Given the description of an element on the screen output the (x, y) to click on. 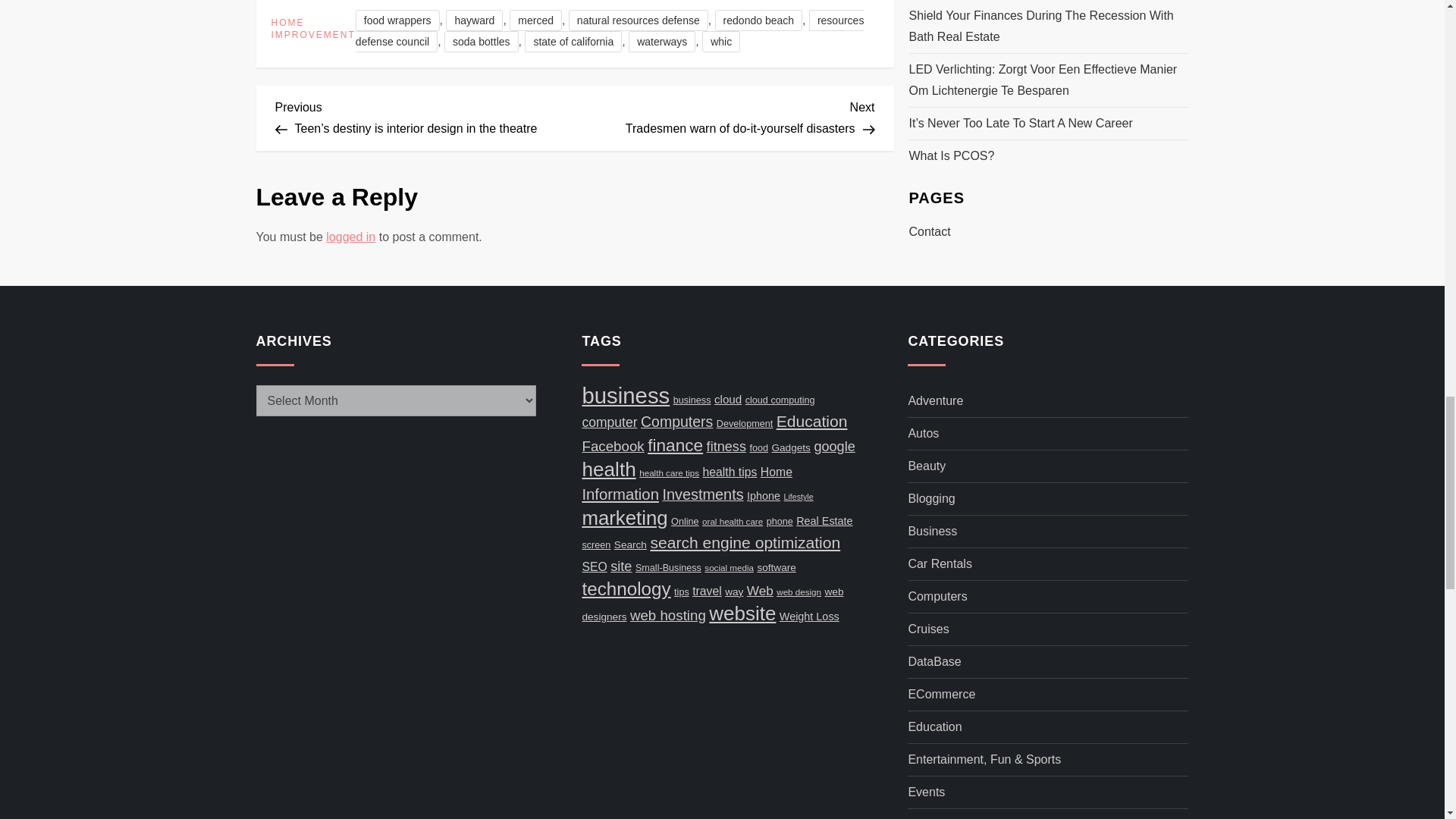
HOME IMPROVEMENT (312, 28)
soda bottles (481, 41)
state of california (725, 116)
food wrappers (572, 41)
redondo beach (397, 20)
waterways (758, 20)
merced (661, 41)
resources defense council (535, 20)
hayward (609, 30)
